Given the description of an element on the screen output the (x, y) to click on. 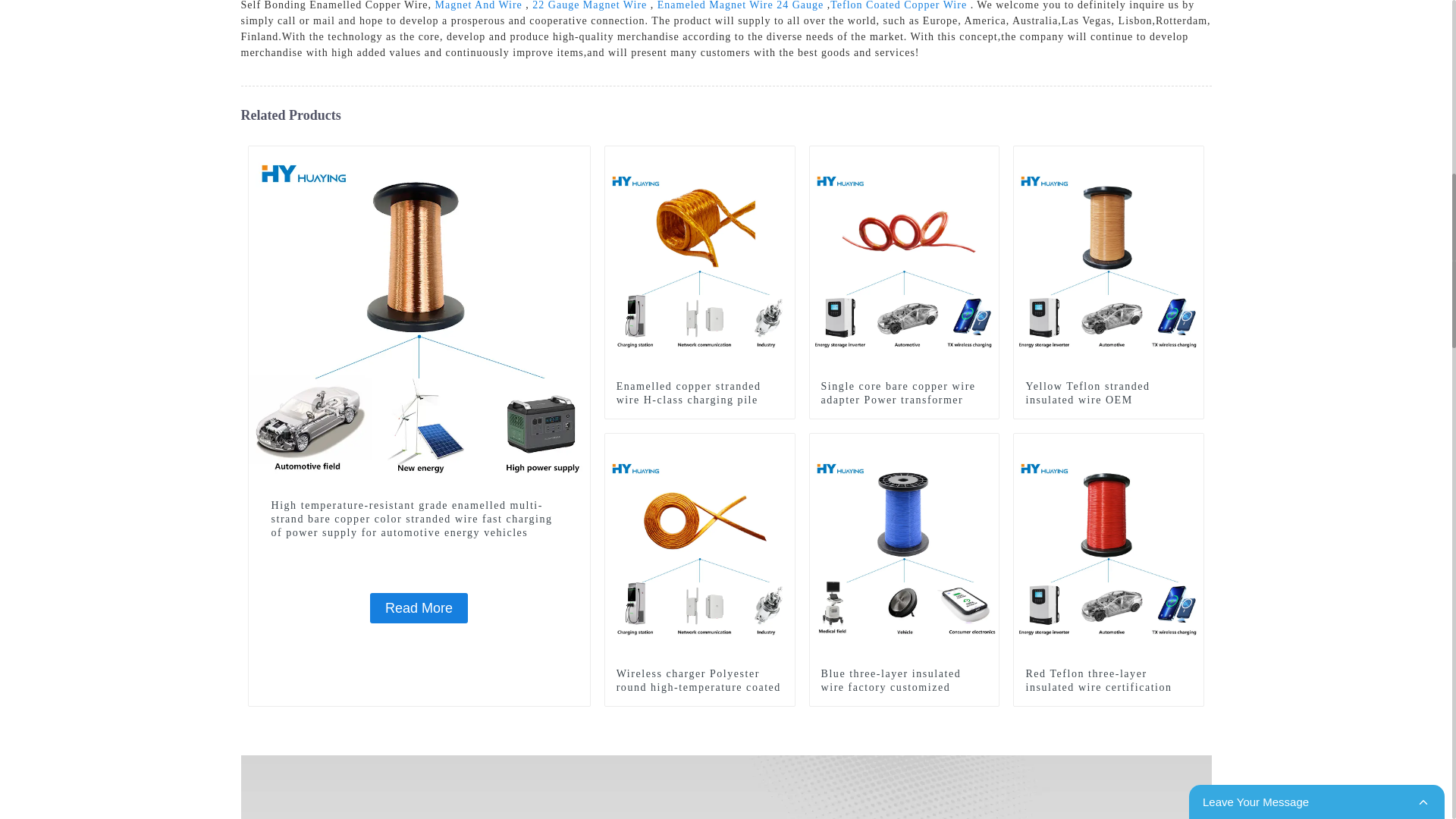
Yellow Teflon stranded insulated wire OEM customized (1108, 259)
Enameled Magnet Wire 24 Gauge (741, 5)
22 Gauge Magnet Wire (589, 5)
Magnet And Wire (478, 5)
11 (782, 157)
21 (1192, 157)
Magnet And Wire (478, 5)
Teflon Coated Copper Wire (897, 5)
Yellow Teflon stranded insulated wire OEM customized (1108, 400)
